Given the description of an element on the screen output the (x, y) to click on. 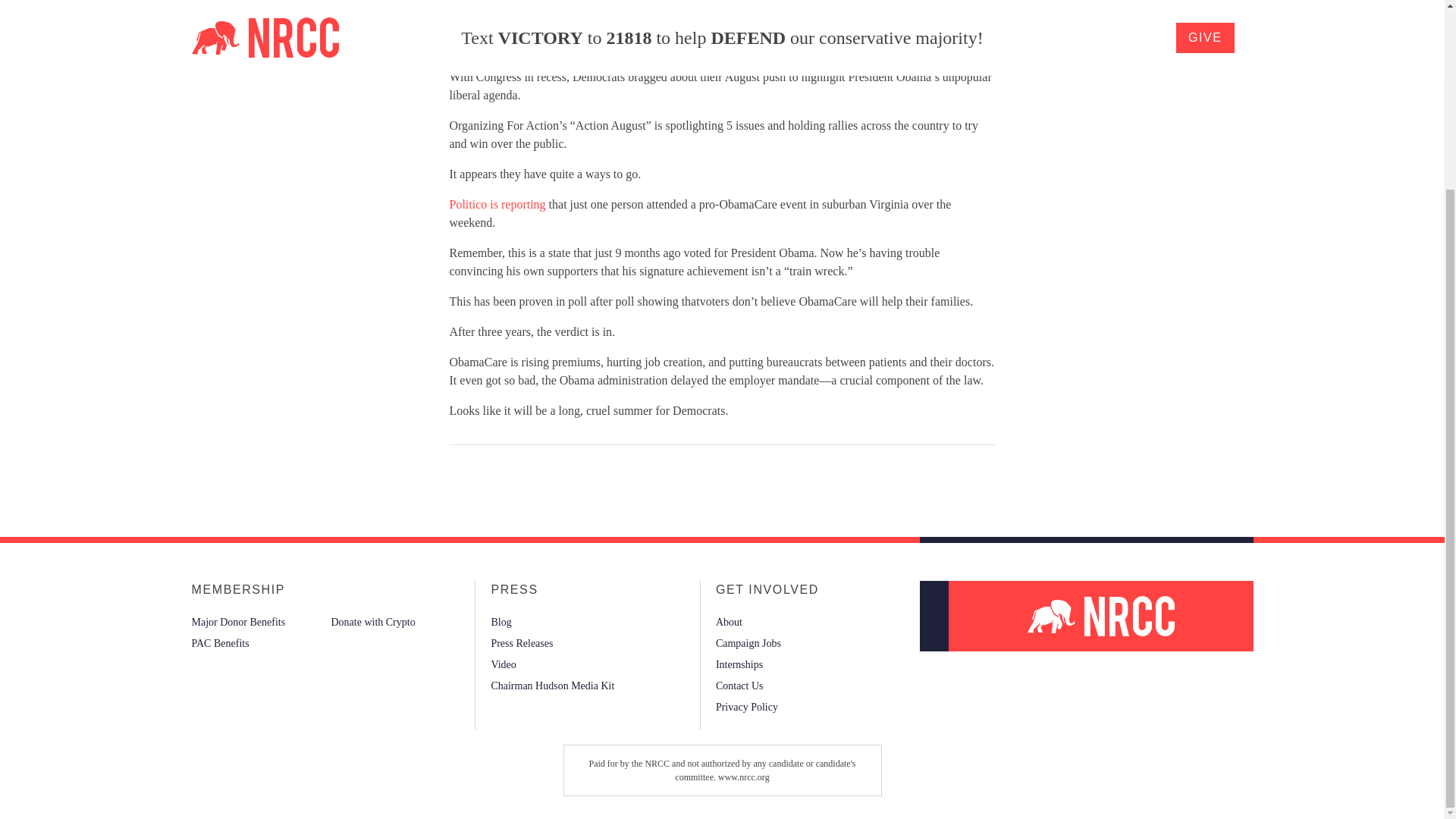
Internships (739, 663)
Video (502, 663)
Chairman Hudson Media Kit (552, 685)
Privacy Policy (746, 706)
PAC Benefits (219, 642)
Donate with Crypto (372, 621)
Blog (500, 621)
Share on LinkedIn (473, 478)
Campaign Jobs (748, 642)
Major Donor Benefits (237, 621)
Contact Us (739, 685)
Share on Facebook (448, 478)
Politico is reporting (496, 204)
Press Releases (521, 642)
Share on Twitter (460, 478)
